Given the description of an element on the screen output the (x, y) to click on. 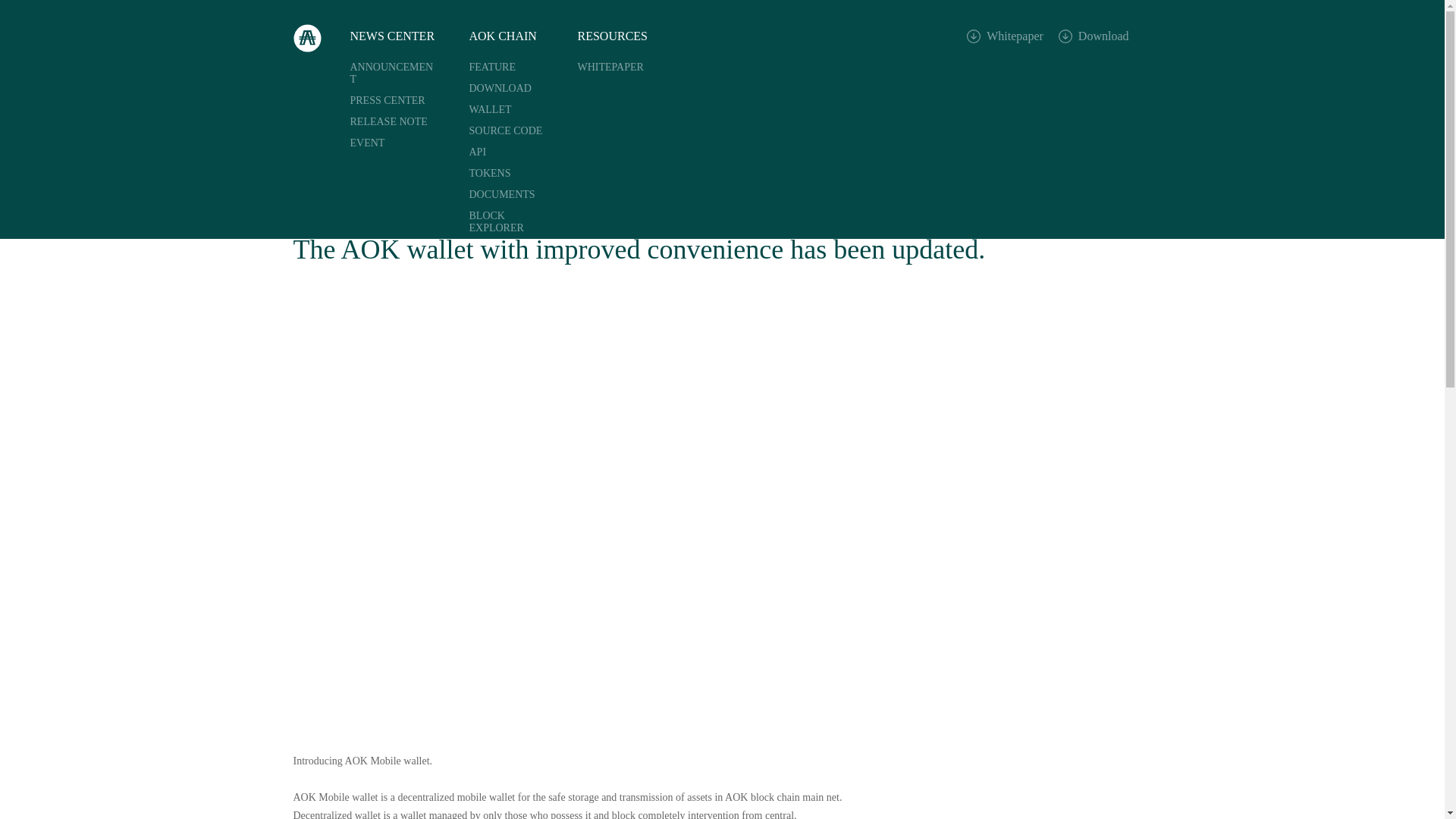
WALLET (512, 109)
WHITEPAPER (615, 66)
PRESS CENTER (392, 100)
ANNOUNCEMENT (392, 73)
FEATURE (512, 66)
RESOURCES (612, 35)
RELEASE NOTE (392, 121)
DOWNLOAD (512, 88)
new window (512, 194)
NEWSCENTER (1071, 112)
DETAIL (1133, 112)
Whitepaper (1004, 39)
NEWS CENTER (392, 35)
DOCUMENTS (512, 194)
API (512, 151)
